Given the description of an element on the screen output the (x, y) to click on. 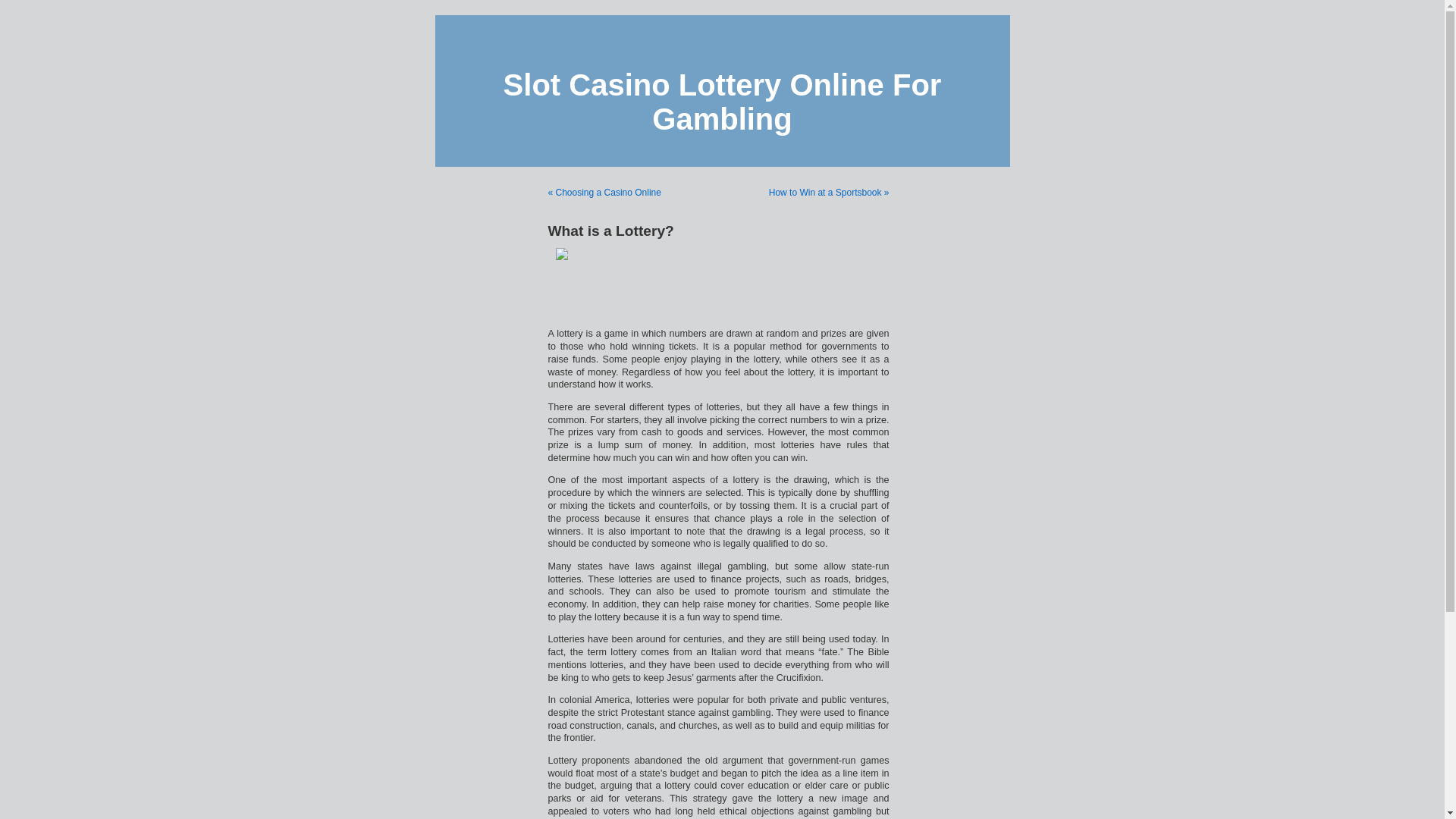
Slot Casino Lottery Online For Gambling (722, 101)
